Given the description of an element on the screen output the (x, y) to click on. 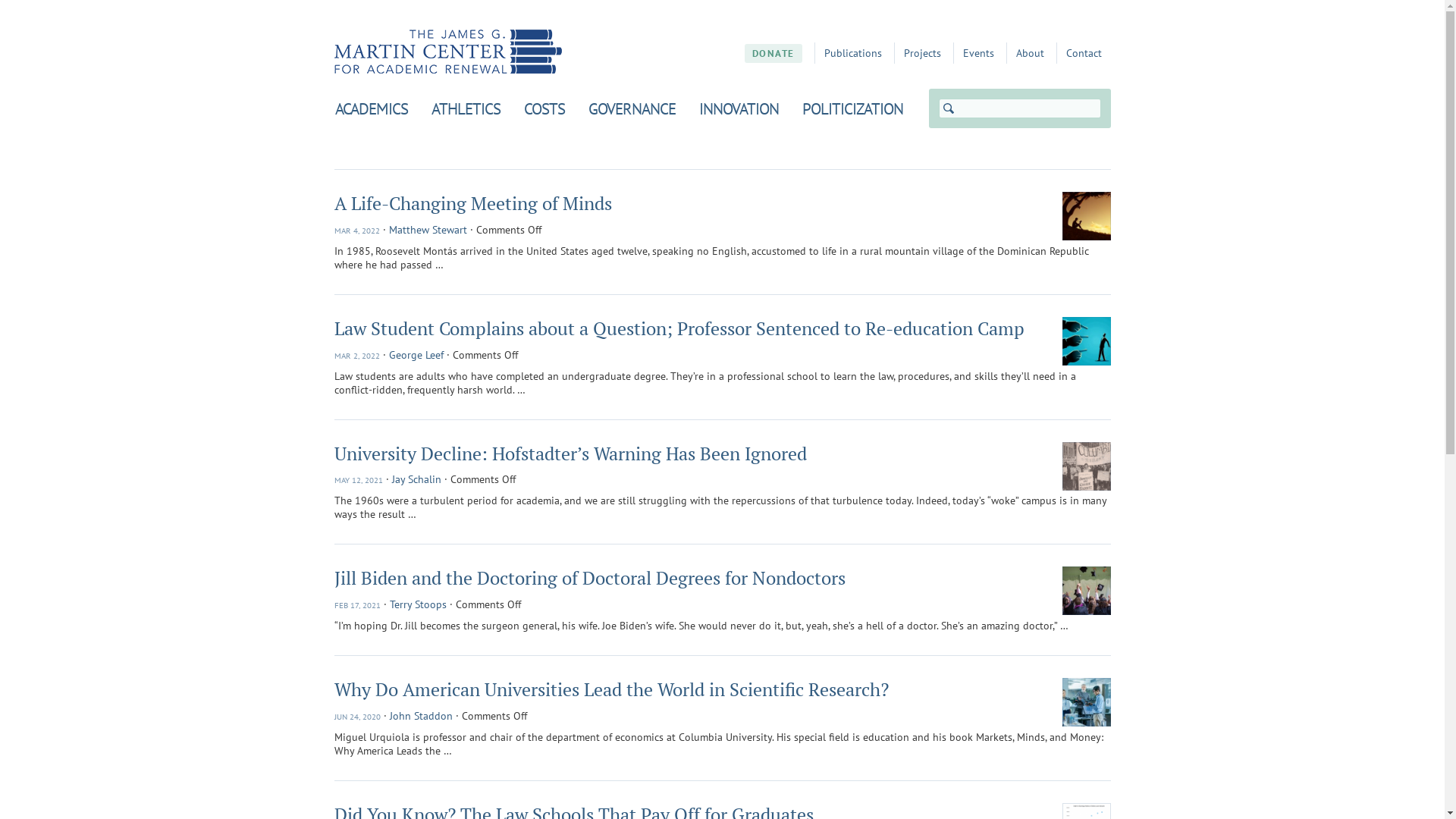
pexels-emily-ranquist-1205651 Element type: hover (1085, 590)
Events Element type: text (978, 52)
About Element type: text (1030, 52)
John Staddon Element type: text (420, 715)
Businessman being pointed by giant fingers Element type: hover (1085, 340)
ACADEMICS Element type: text (371, 107)
Contact Element type: text (1083, 52)
Projects Element type: text (922, 52)
INNOVATION Element type: text (738, 107)
Jay Schalin Element type: text (415, 479)
COSTS Element type: text (543, 107)
GOVERNANCE Element type: text (631, 107)
Terry Stoops Element type: text (417, 604)
POLITICIZATION Element type: text (852, 107)
Screen Shot 2021-05-11 at 5.27.42 PM Element type: hover (1085, 466)
George Leef Element type: text (415, 354)
A Life-Changing Meeting of Minds Element type: text (472, 203)
Matthew Stewart Element type: text (427, 229)
ATHLETICS Element type: text (464, 107)
DONATE Element type: text (773, 52)
Man reading in the park Element type: hover (1085, 215)
Publications Element type: text (852, 52)
